Given the description of an element on the screen output the (x, y) to click on. 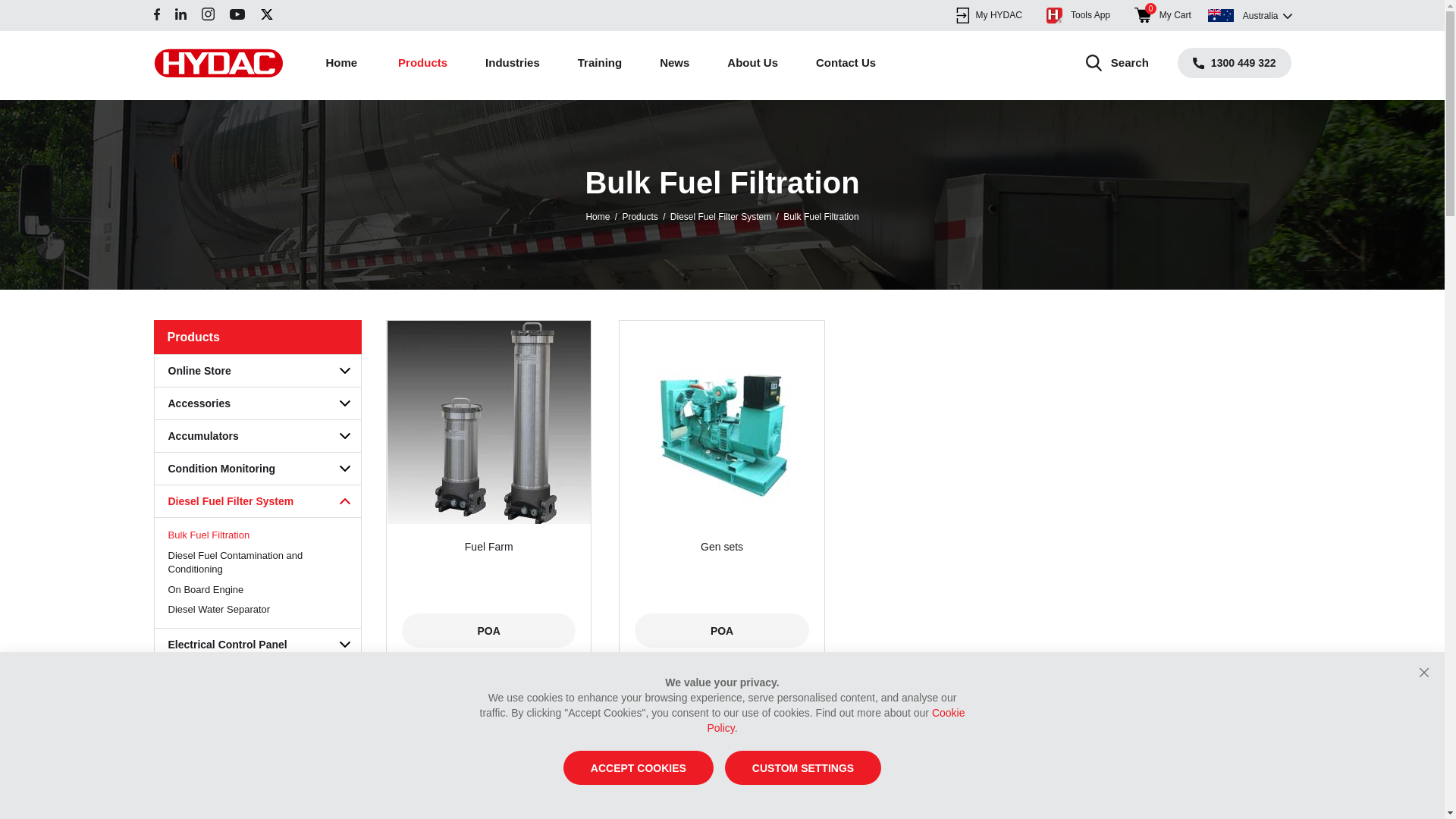
LinkedIn Element type: hover (179, 13)
Fuel Farm Element type: hover (488, 422)
My HYDAC Element type: text (988, 15)
Facebook Element type: hover (156, 13)
Diesel Fuel Filter System Element type: text (257, 501)
Online Store Element type: text (257, 370)
1300 449 322 Element type: text (1234, 62)
Products Element type: text (422, 62)
Training Element type: text (599, 62)
Twitter Element type: hover (266, 14)
Accumulators Element type: text (257, 436)
Filter Systems Element type: text (257, 742)
Gen sets Element type: text (721, 546)
Diesel Water Separator Element type: text (257, 609)
Accessories Element type: text (257, 403)
On Board Engine Element type: text (257, 590)
Products Element type: text (639, 216)
Cookie Policy Element type: text (835, 720)
Electronics Element type: text (257, 709)
Youtube Element type: hover (236, 14)
Gen sets Element type: hover (721, 422)
Fuel Farm Element type: text (488, 546)
Home Element type: text (597, 216)
Condition Monitoring Element type: text (257, 468)
Hydraulic Filters Element type: text (257, 775)
Home Element type: text (341, 62)
CUSTOM SETTINGS Element type: text (802, 767)
Industries Element type: text (512, 62)
ACCEPT COOKIES Element type: text (638, 767)
Tools App Element type: text (1078, 15)
My Cart
0 Element type: text (1162, 14)
Electrical Control Panel Element type: text (257, 644)
Bulk Fuel Filtration Element type: text (257, 535)
Hydac Australia Element type: hover (217, 62)
E-mobility Element type: text (257, 677)
Diesel Fuel Contamination and Conditioning Element type: text (257, 563)
About Us Element type: text (752, 62)
CLOSE Element type: text (1423, 671)
Diesel Fuel Filter System Element type: text (720, 216)
News Element type: text (674, 62)
Instagram Element type: hover (207, 13)
Contact Us Element type: text (845, 62)
Search Element type: text (1116, 62)
